Given the description of an element on the screen output the (x, y) to click on. 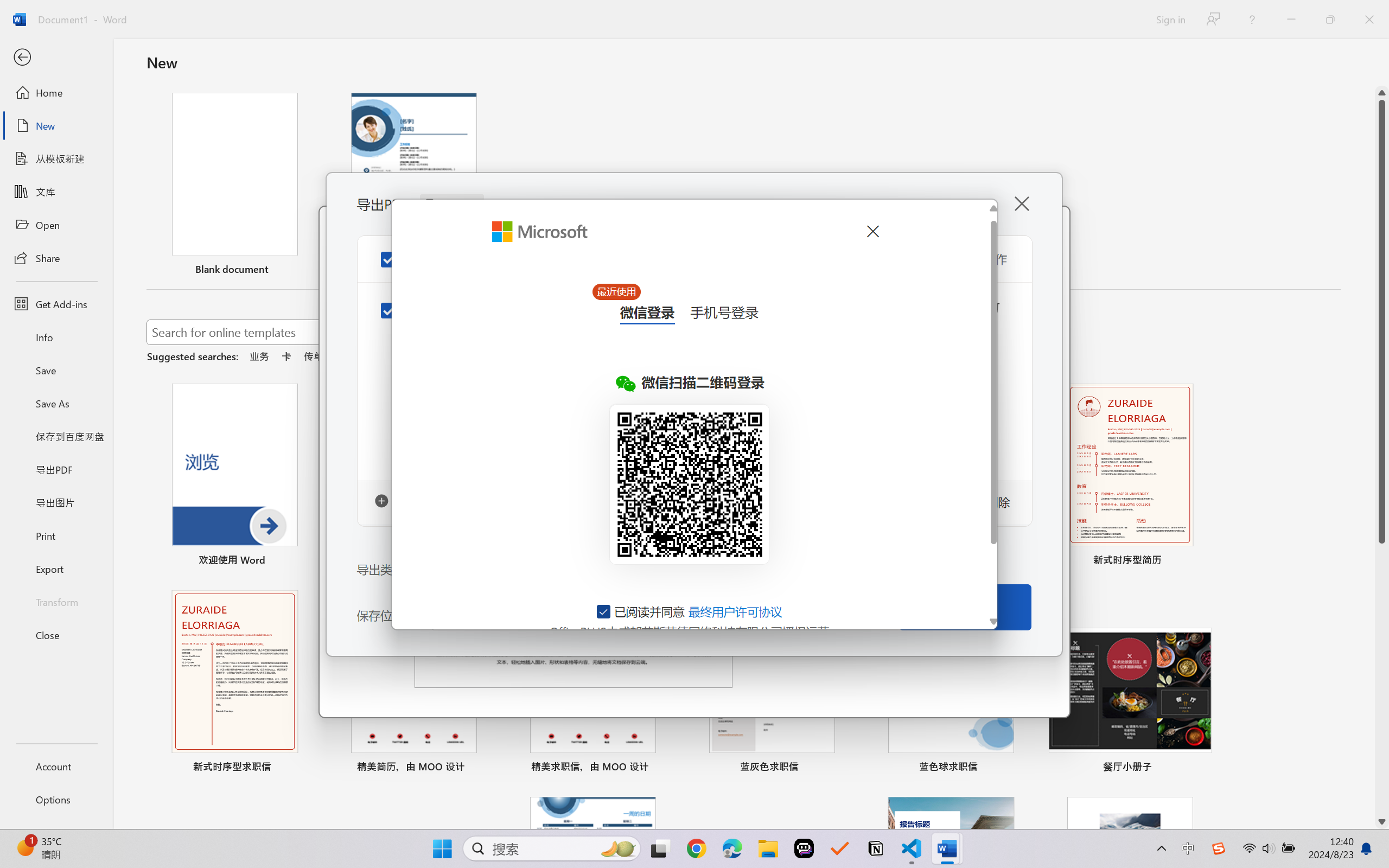
Info (56, 337)
